Given the description of an element on the screen output the (x, y) to click on. 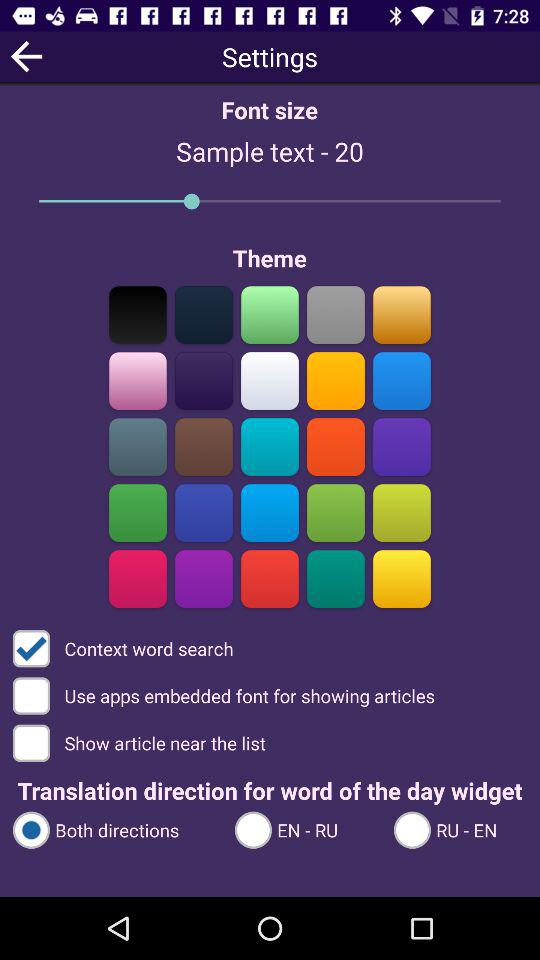
go to previous (26, 56)
